Given the description of an element on the screen output the (x, y) to click on. 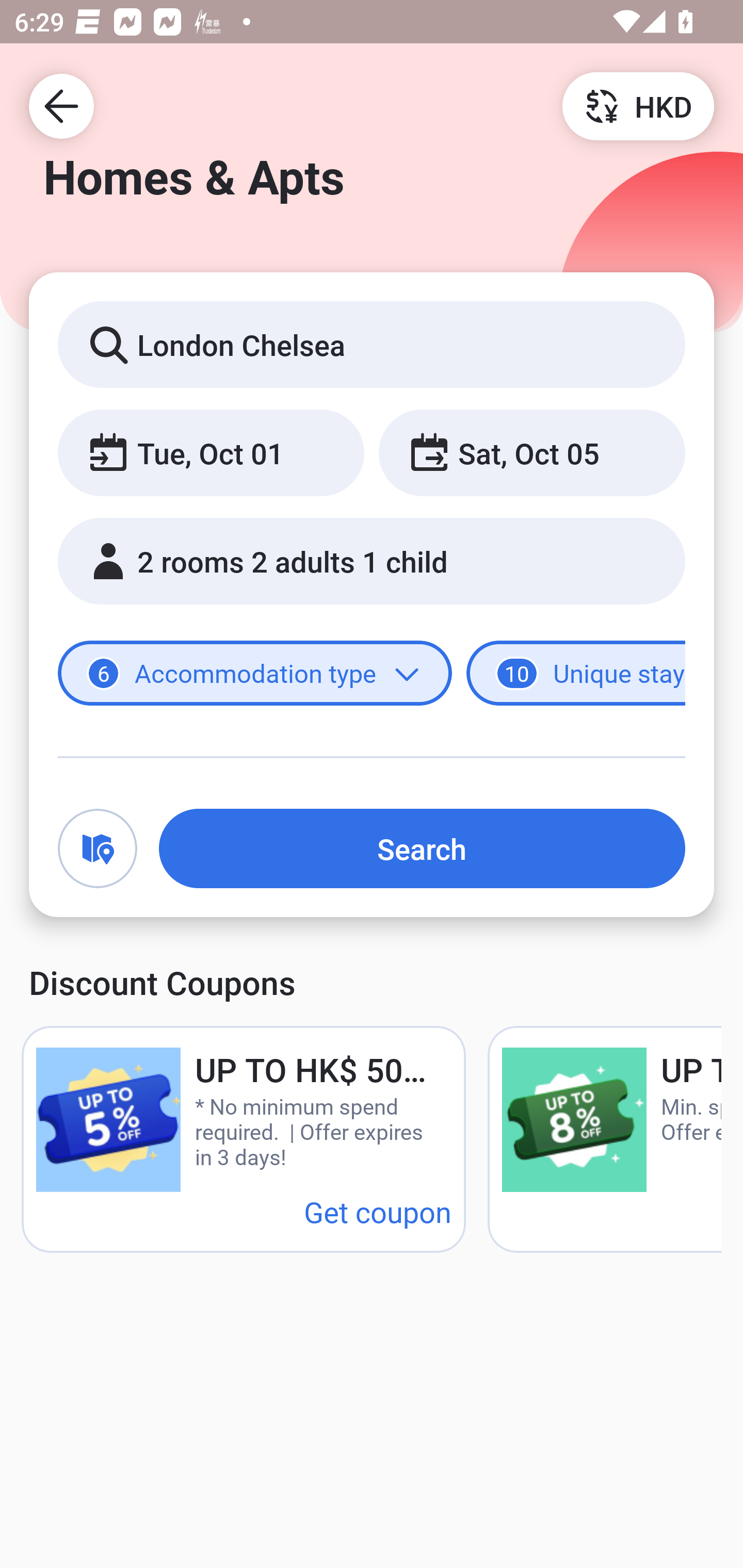
HKD (638, 105)
London Chelsea (371, 344)
Tue, Oct 01 (210, 452)
Sat, Oct 05 (531, 452)
2 rooms 2 adults 1 child (371, 561)
6 Accommodation type (254, 673)
10 Unique stays (575, 673)
Search (422, 848)
Get coupon (377, 1211)
